Given the description of an element on the screen output the (x, y) to click on. 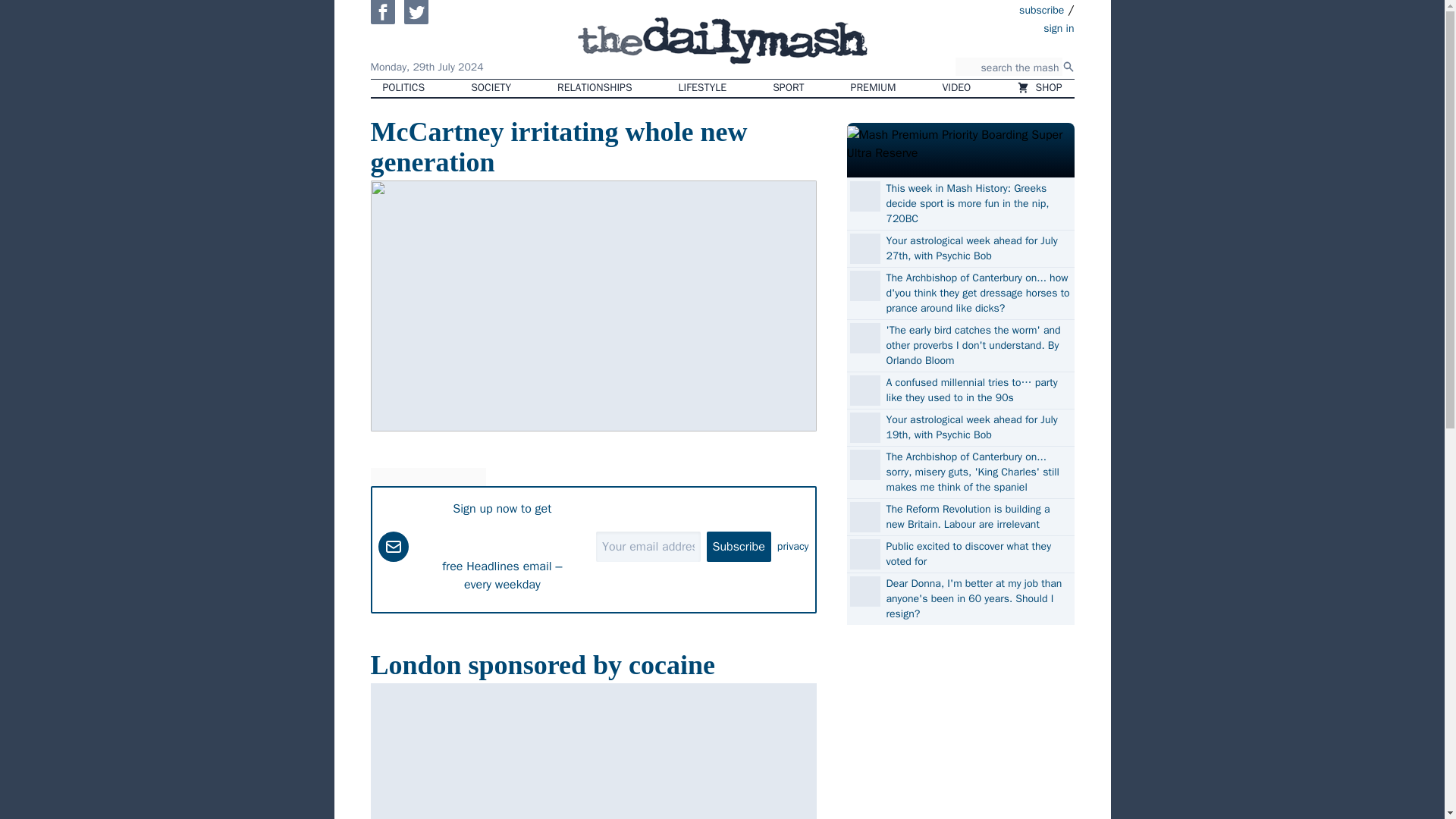
POLITICS (402, 88)
sign in (970, 27)
LIFESTYLE (702, 88)
privacy (793, 545)
subscribe (1041, 9)
Your astrological week ahead for July 19th, with Psychic Bob (977, 427)
SPORT (787, 88)
RELATIONSHIPS (593, 88)
Subscribe (738, 545)
VIDEO (957, 88)
